Given the description of an element on the screen output the (x, y) to click on. 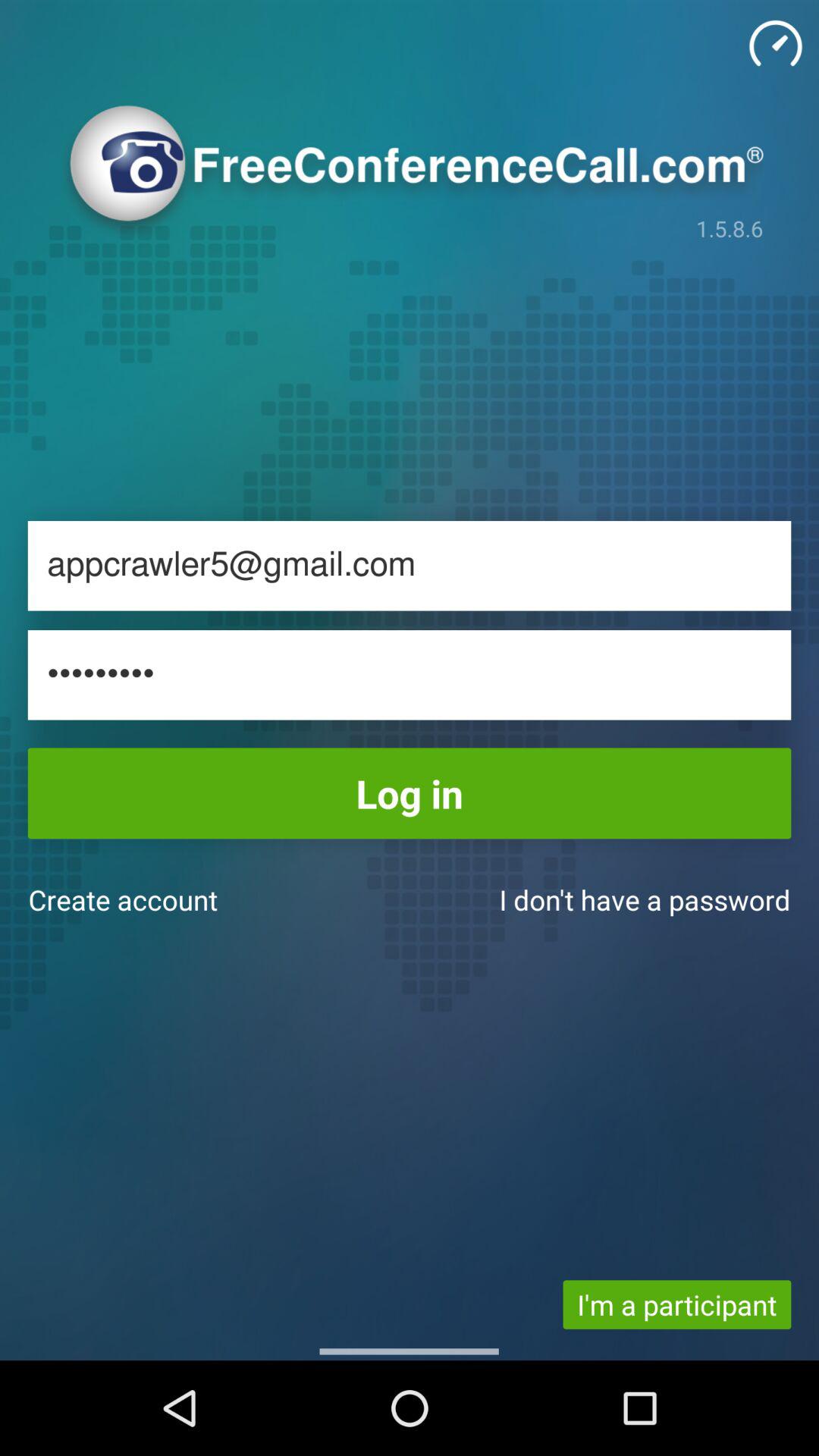
timer (775, 43)
